Given the description of an element on the screen output the (x, y) to click on. 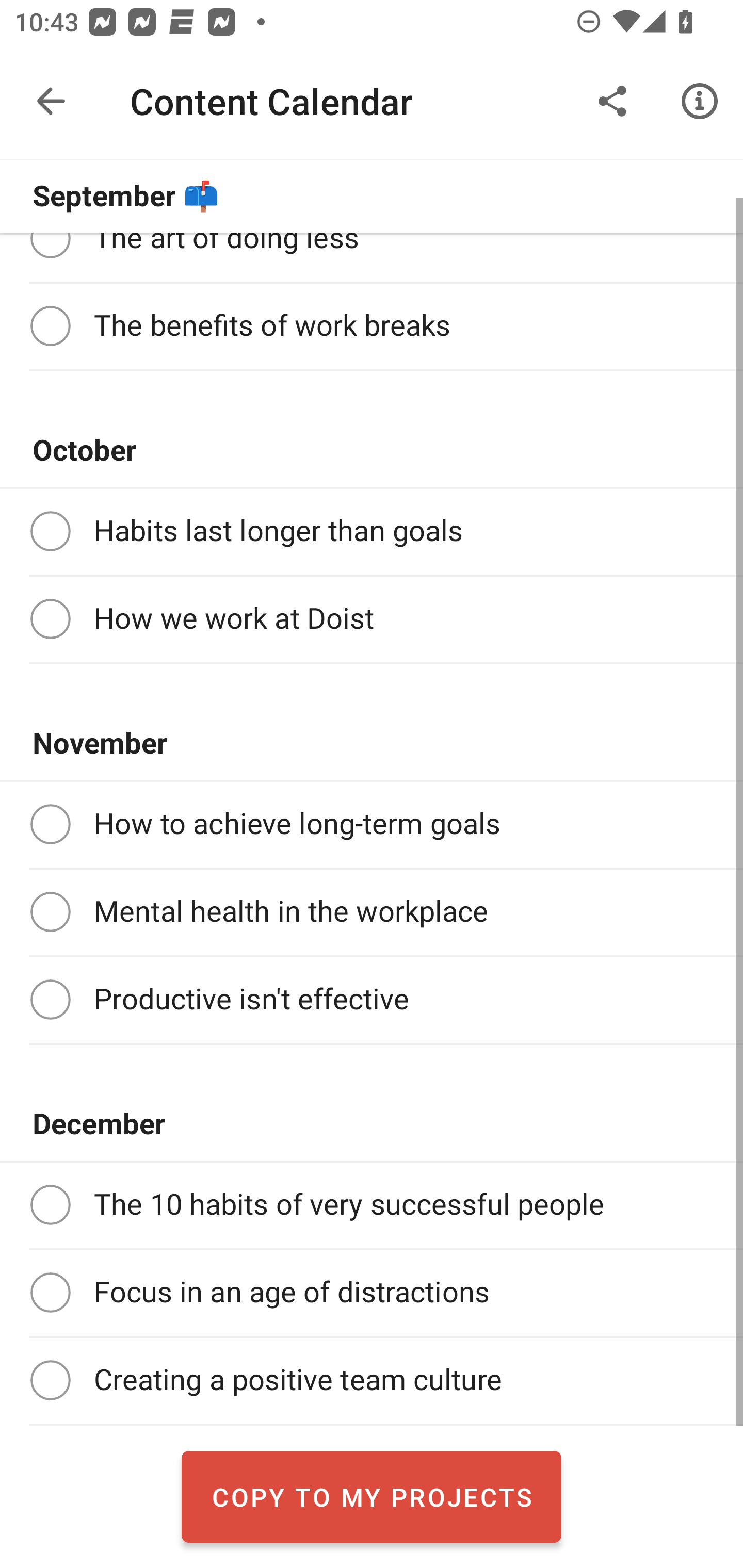
Navigate up (50, 101)
Share (612, 101)
About this template (699, 101)
Complete The benefits of work breaks (371, 326)
Complete (50, 326)
October (371, 450)
Complete Habits last longer than goals (371, 531)
Complete (50, 531)
Complete How we work at Doist (371, 619)
Complete (50, 619)
November (371, 743)
Complete How to achieve long-term goals (371, 824)
Complete (50, 824)
Complete Mental health in the workplace (371, 912)
Complete (50, 911)
Complete Productive isn't effective (371, 1000)
Complete (50, 999)
December (371, 1124)
Complete The 10 habits of very successful people (371, 1204)
Complete (50, 1204)
Complete Focus in an age of distractions (371, 1292)
Complete (50, 1291)
Complete Creating a positive team culture (371, 1380)
Complete (50, 1379)
COPY TO MY PROJECTS (371, 1496)
